Given the description of an element on the screen output the (x, y) to click on. 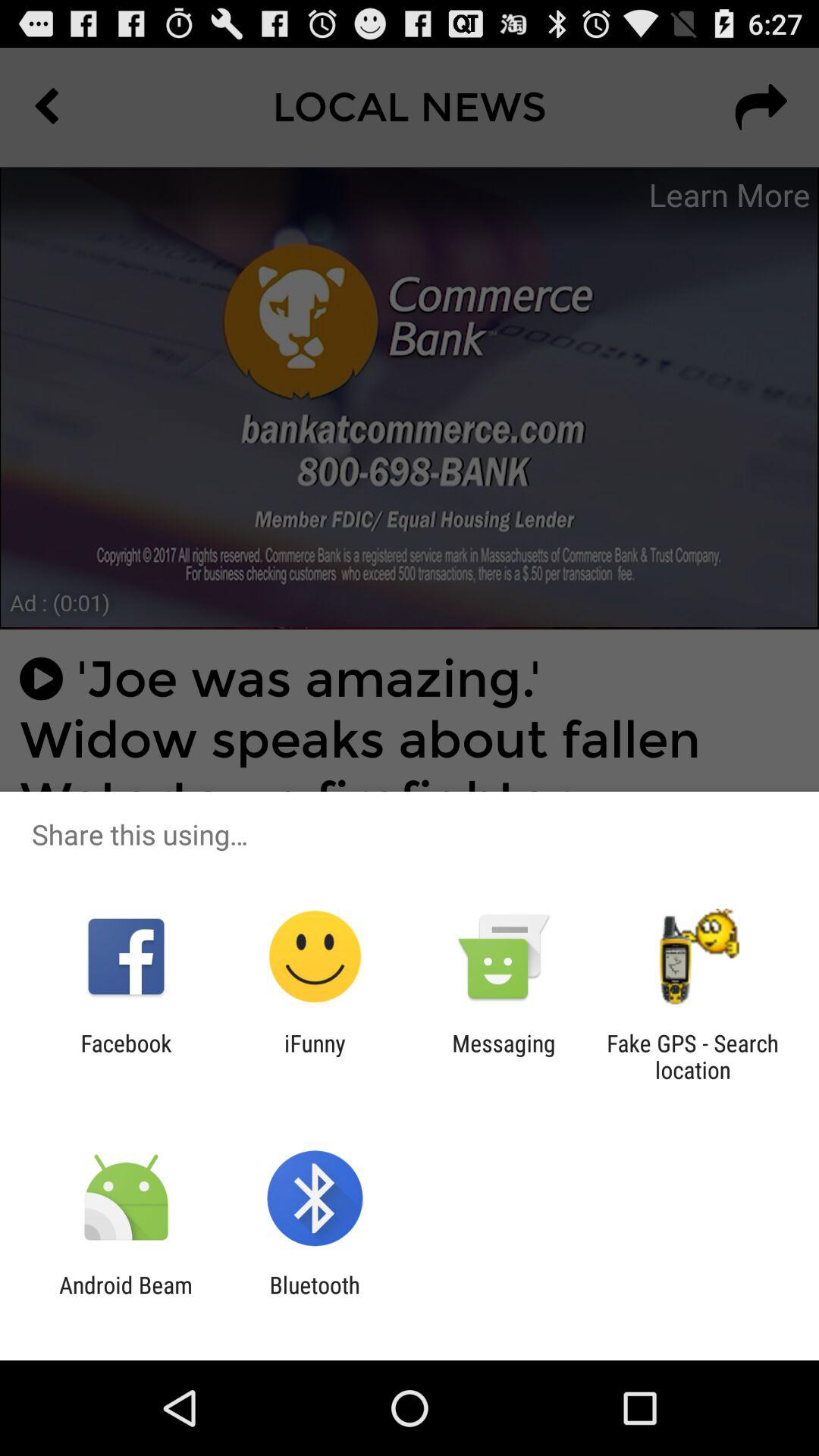
scroll until fake gps search icon (692, 1056)
